Given the description of an element on the screen output the (x, y) to click on. 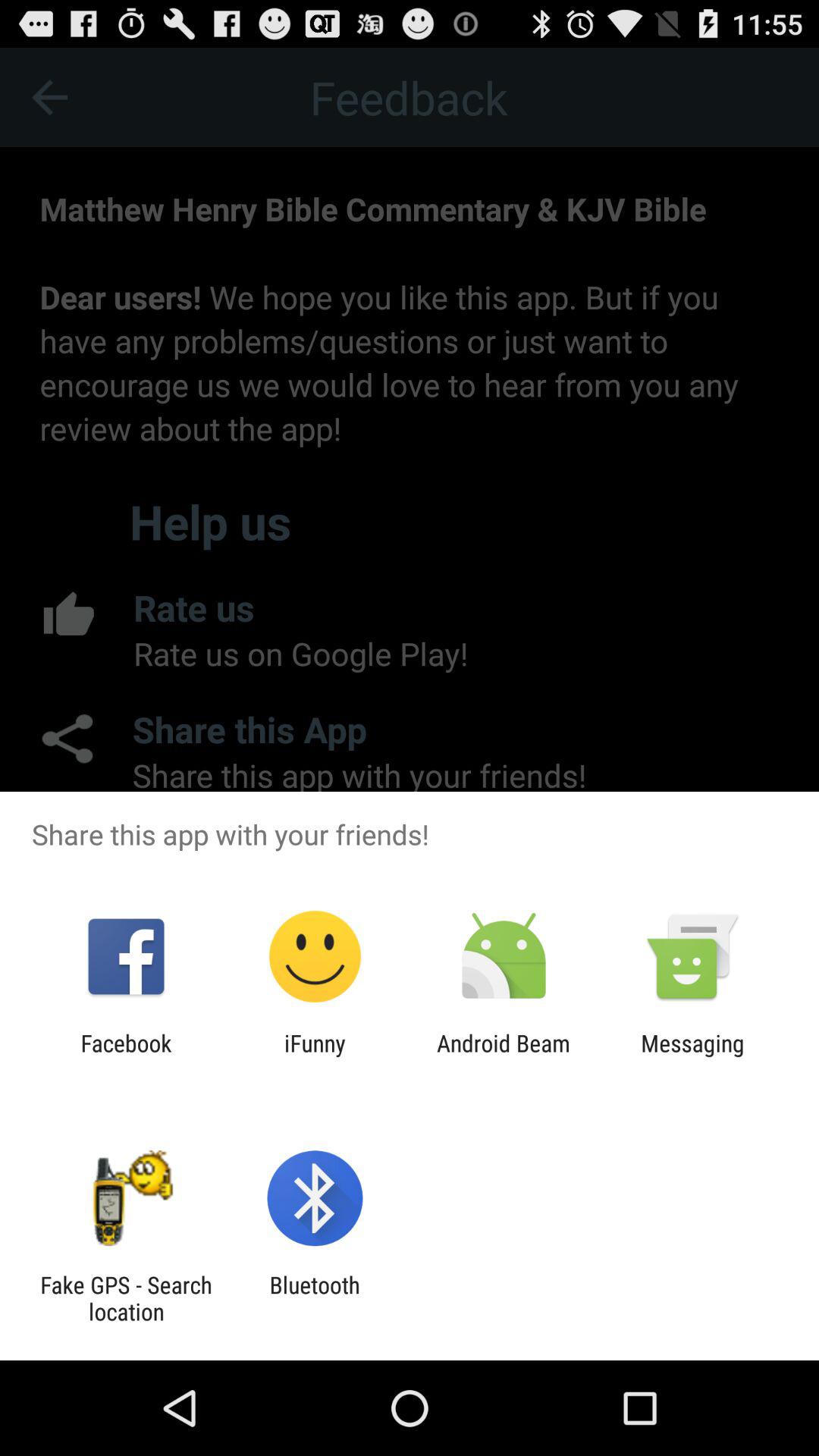
turn off item to the right of the ifunny icon (503, 1056)
